Given the description of an element on the screen output the (x, y) to click on. 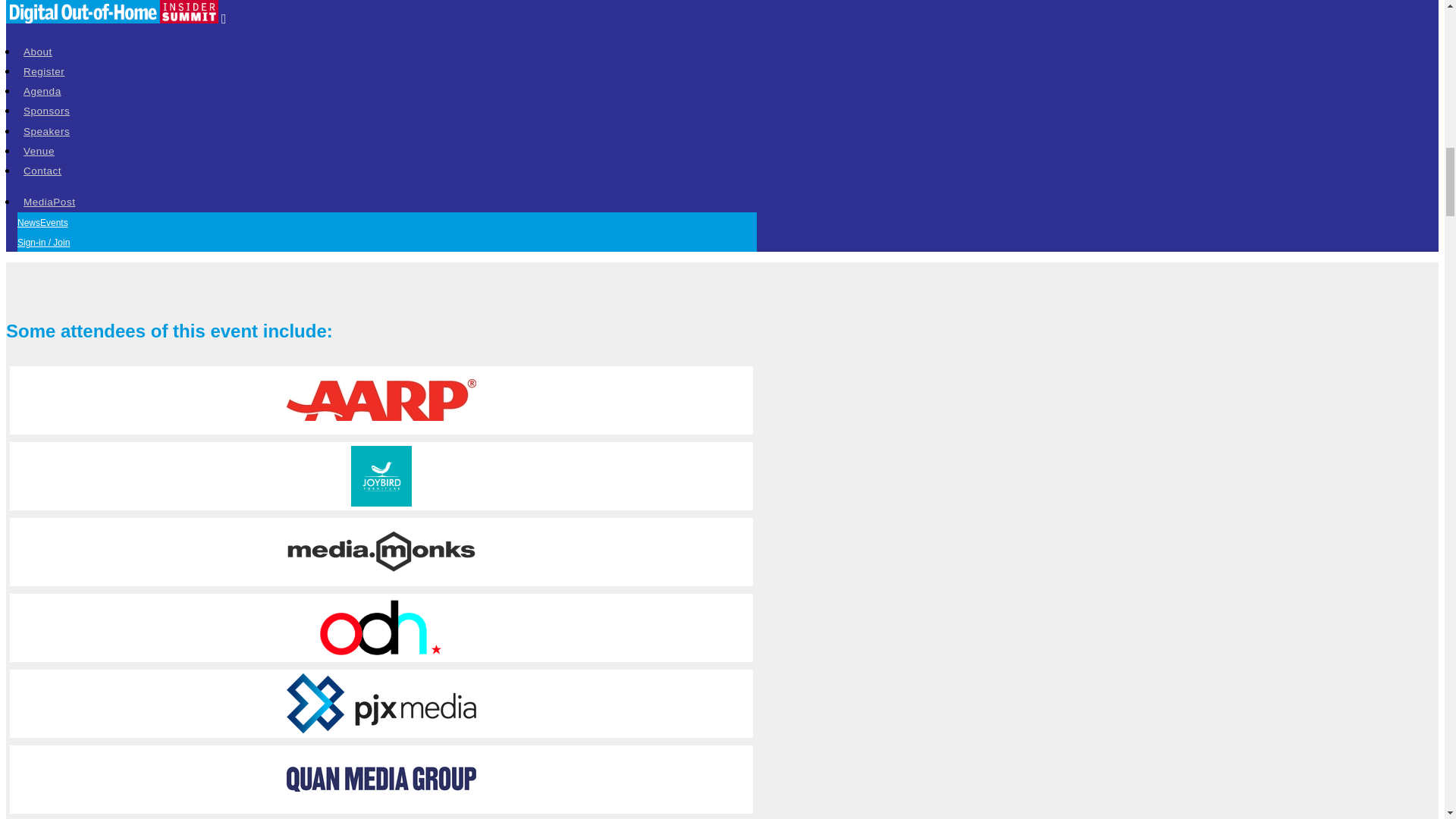
Event Details (55, 220)
Previous Events (169, 220)
